Given the description of an element on the screen output the (x, y) to click on. 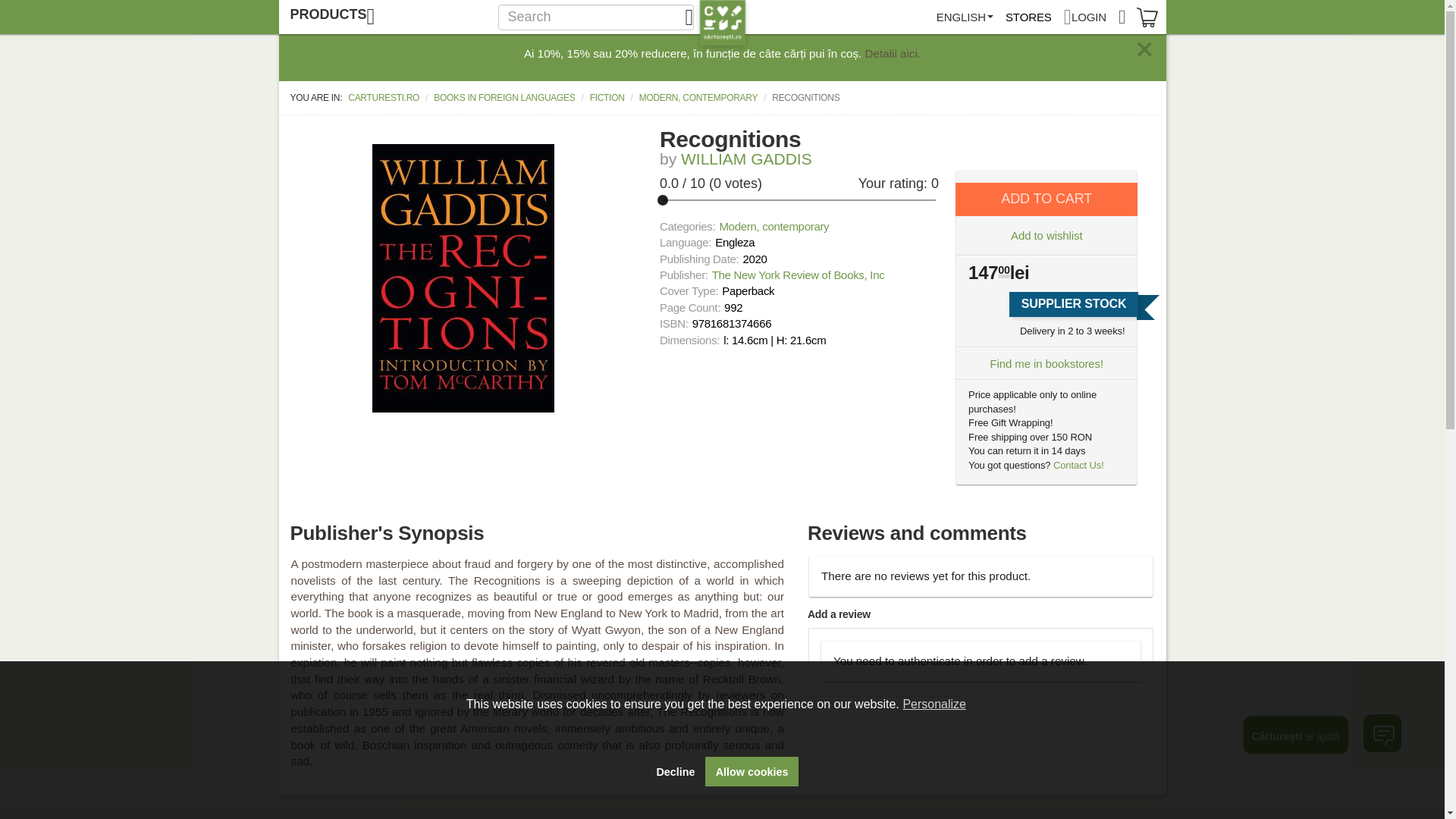
FICTION (607, 97)
ADD TO CART (1046, 198)
WILLIAM GADDIS (745, 158)
Add to cart (1046, 198)
ENGLISH (964, 17)
Decline (675, 771)
Personalize (933, 704)
The New York Review of Books, Inc (798, 274)
Detalii aici. (893, 52)
ADD TO CART (1046, 199)
LOGIN (1085, 17)
Modern, contemporary (773, 226)
BOOKS IN FOREIGN LANGUAGES (503, 97)
MODERN, CONTEMPORARY (698, 97)
CARTURESTI.RO (384, 97)
